Given the description of an element on the screen output the (x, y) to click on. 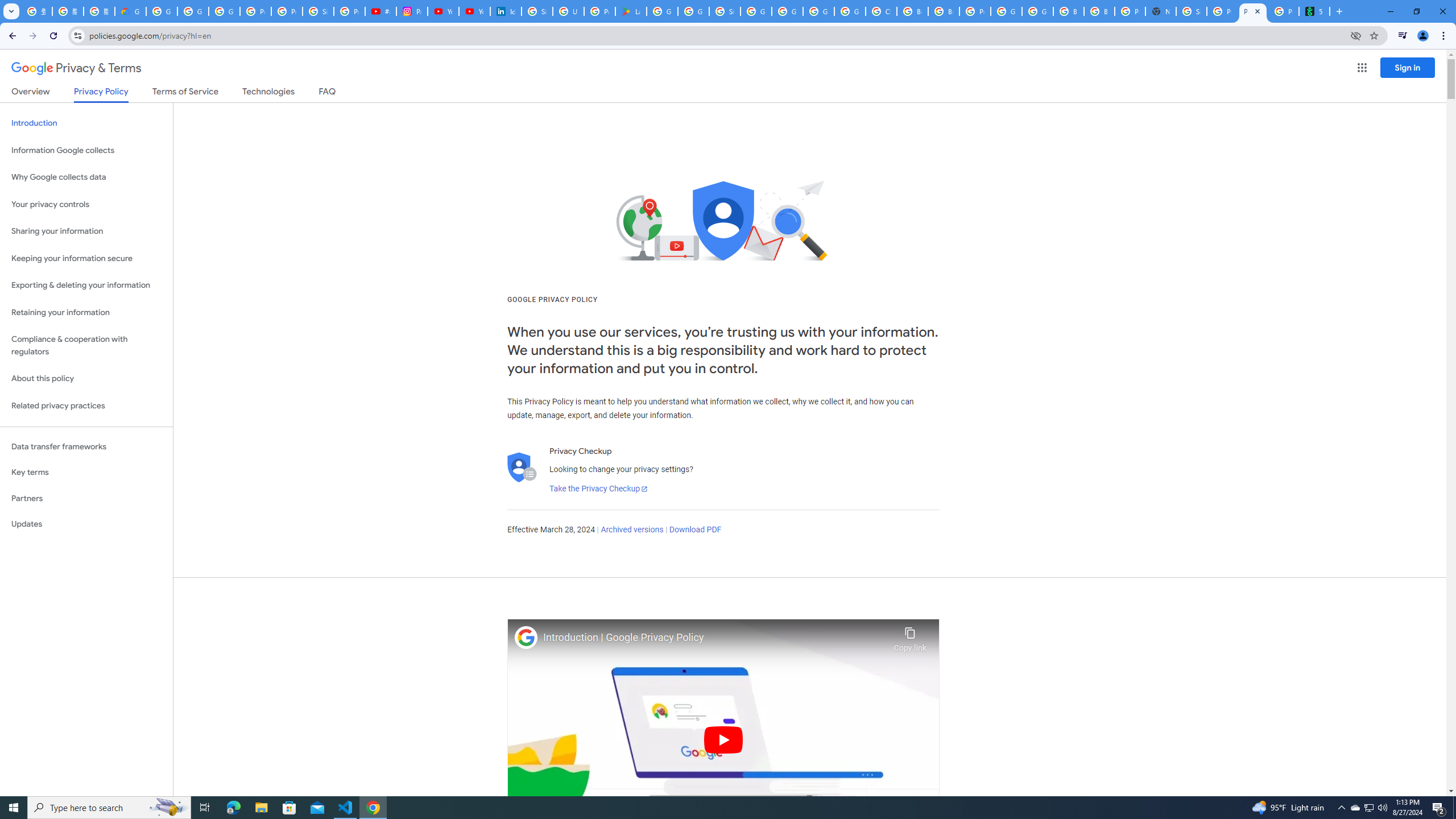
YouTube Culture & Trends - YouTube Top 10, 2021 (474, 11)
Sign in - Google Accounts (724, 11)
Take the Privacy Checkup (597, 488)
New Tab (1160, 11)
Last Shelter: Survival - Apps on Google Play (631, 11)
Photo image of Google (526, 636)
Google Cloud Platform (818, 11)
